Given the description of an element on the screen output the (x, y) to click on. 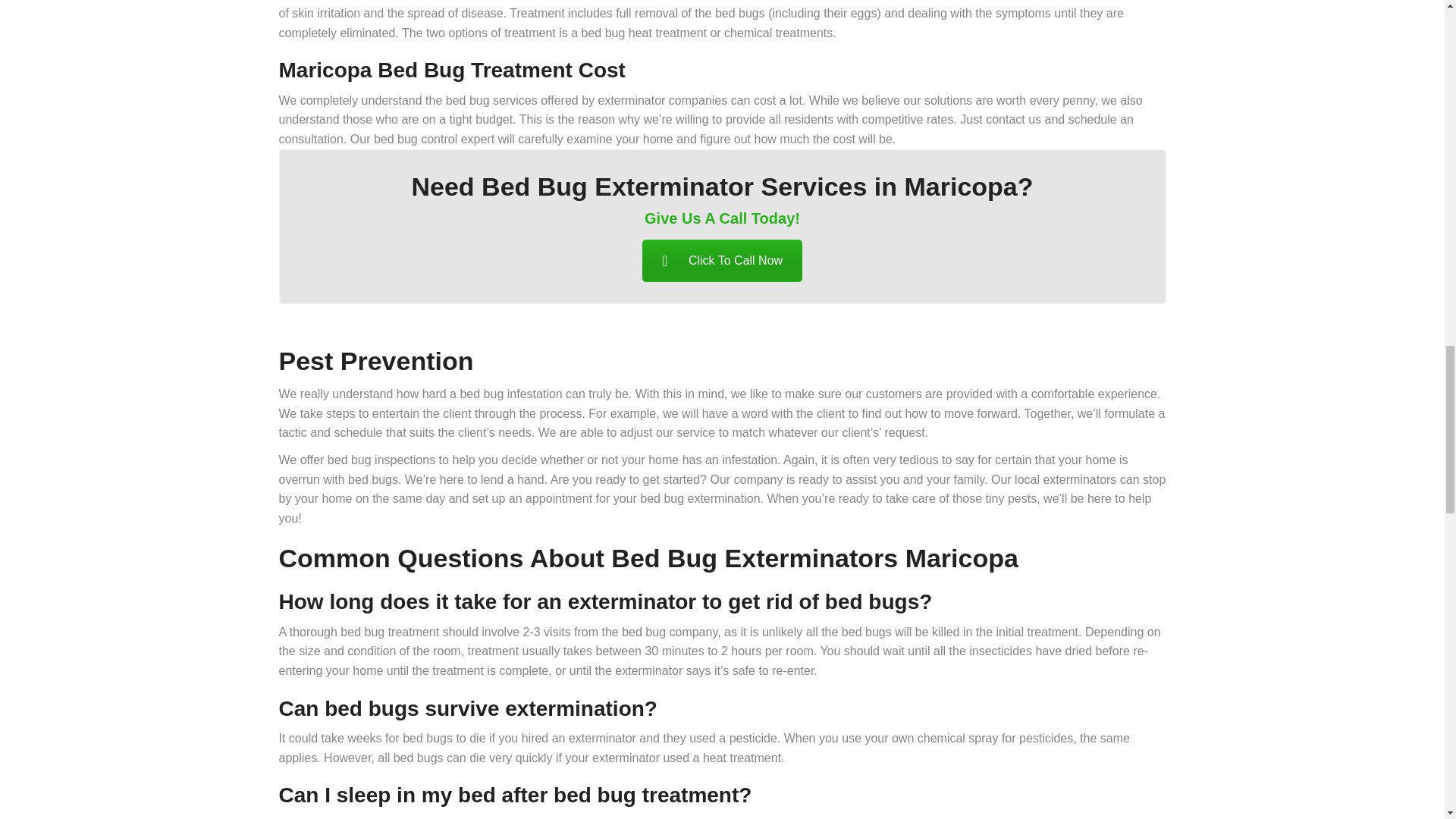
Click To Call Today! (722, 260)
Click To Call Now (722, 260)
